Given the description of an element on the screen output the (x, y) to click on. 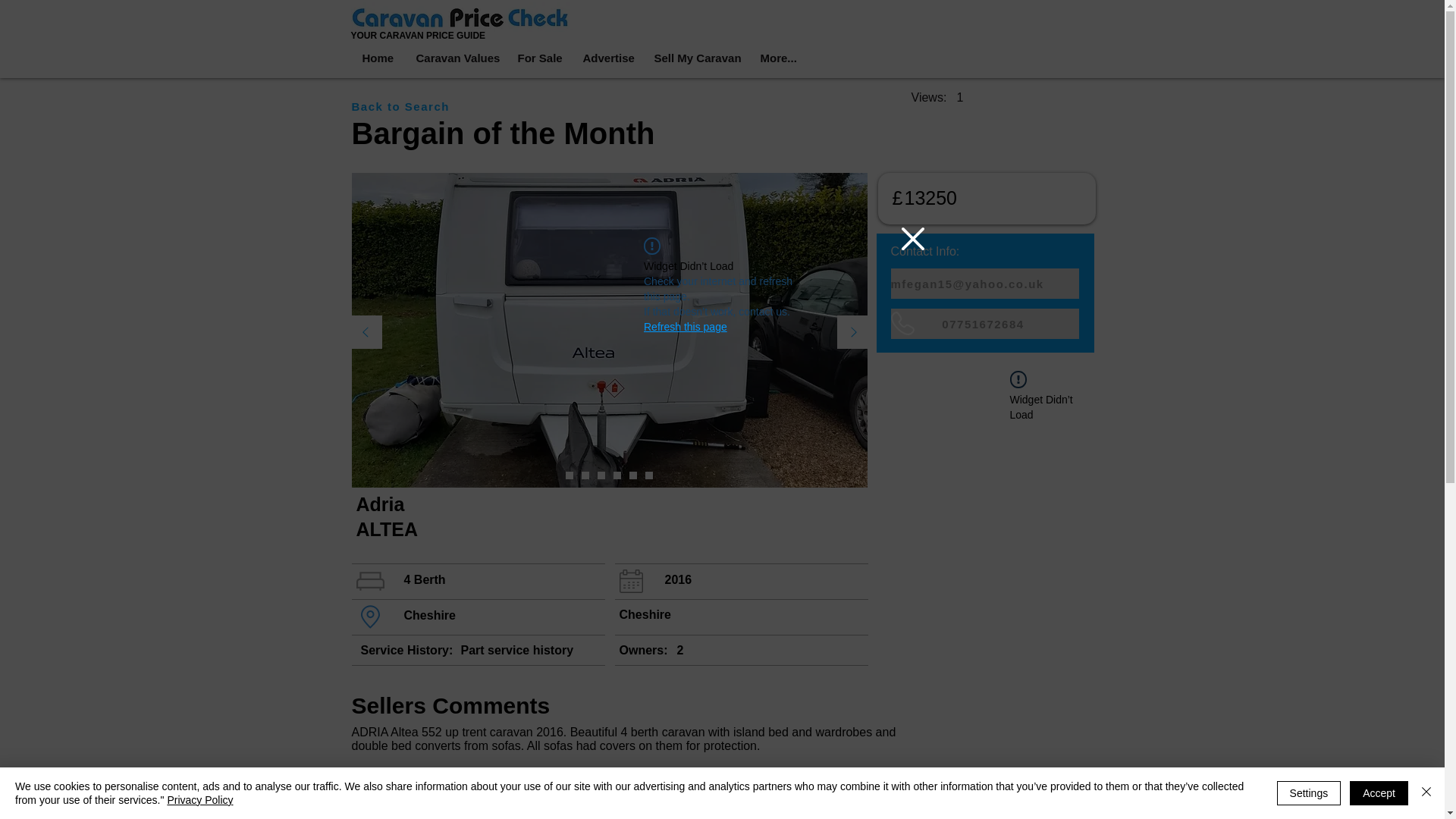
Sell My Caravan (695, 57)
Home (376, 57)
Back to site (912, 238)
Advertise (606, 57)
07751672684 (983, 323)
Back to Search (406, 105)
